Given the description of an element on the screen output the (x, y) to click on. 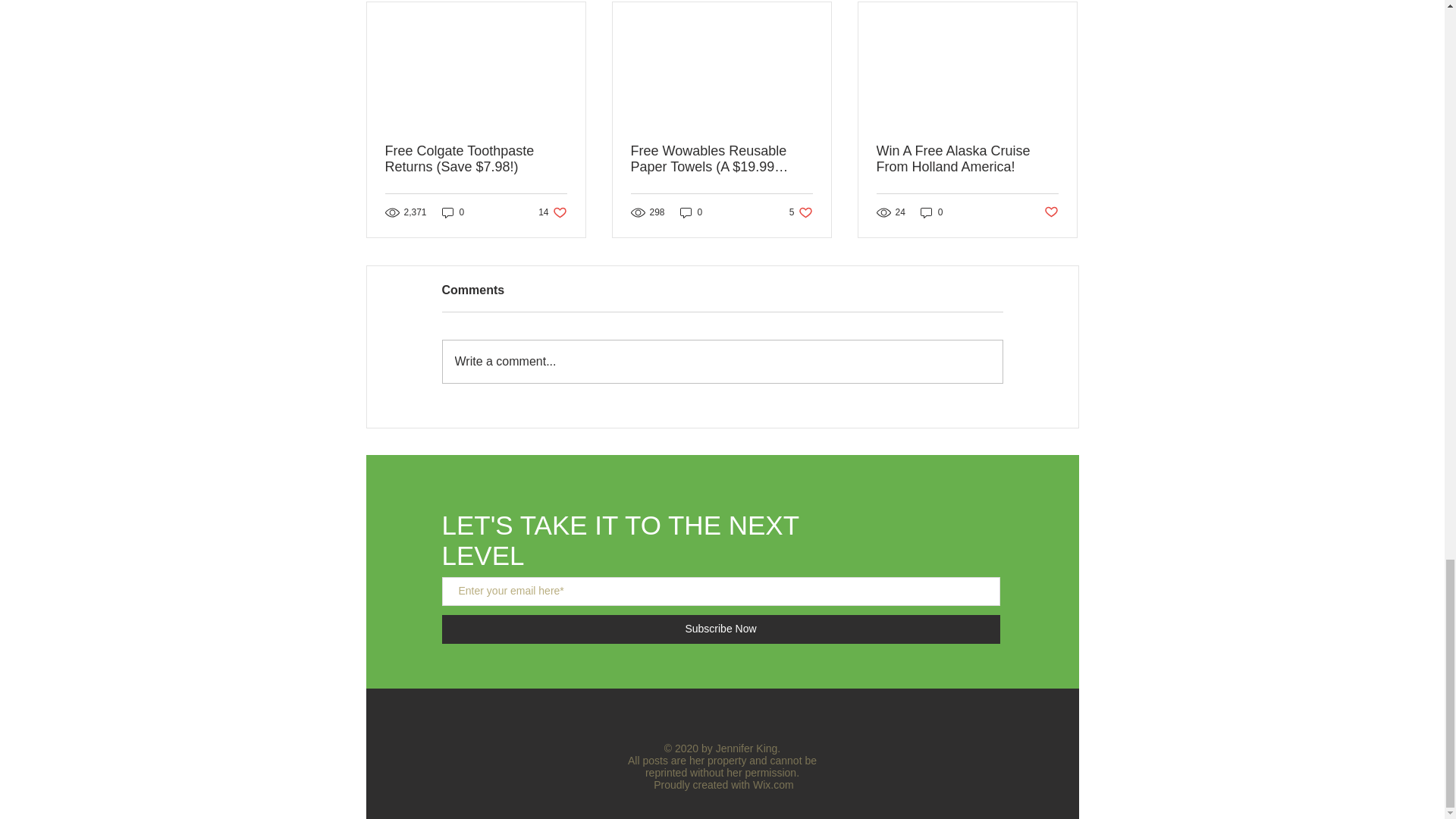
0 (552, 212)
